Given the description of an element on the screen output the (x, y) to click on. 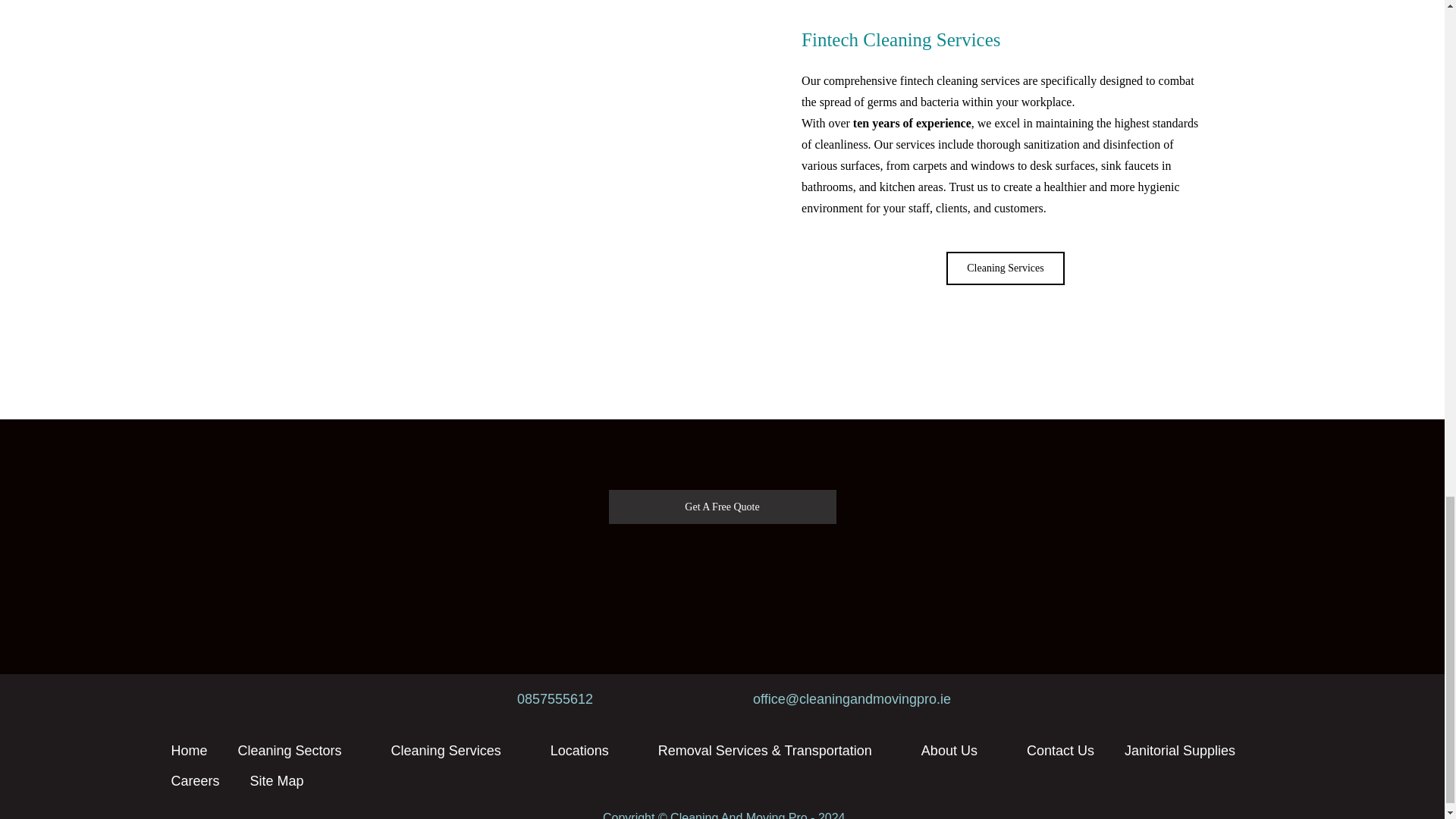
Cleaning Sectors (298, 750)
Contact Us (1060, 750)
Site Map (276, 780)
Careers (194, 780)
About Us (958, 750)
Cleaning Services (455, 750)
Janitorial Supplies (1179, 750)
Home (188, 750)
Locations (589, 750)
